Given the description of an element on the screen output the (x, y) to click on. 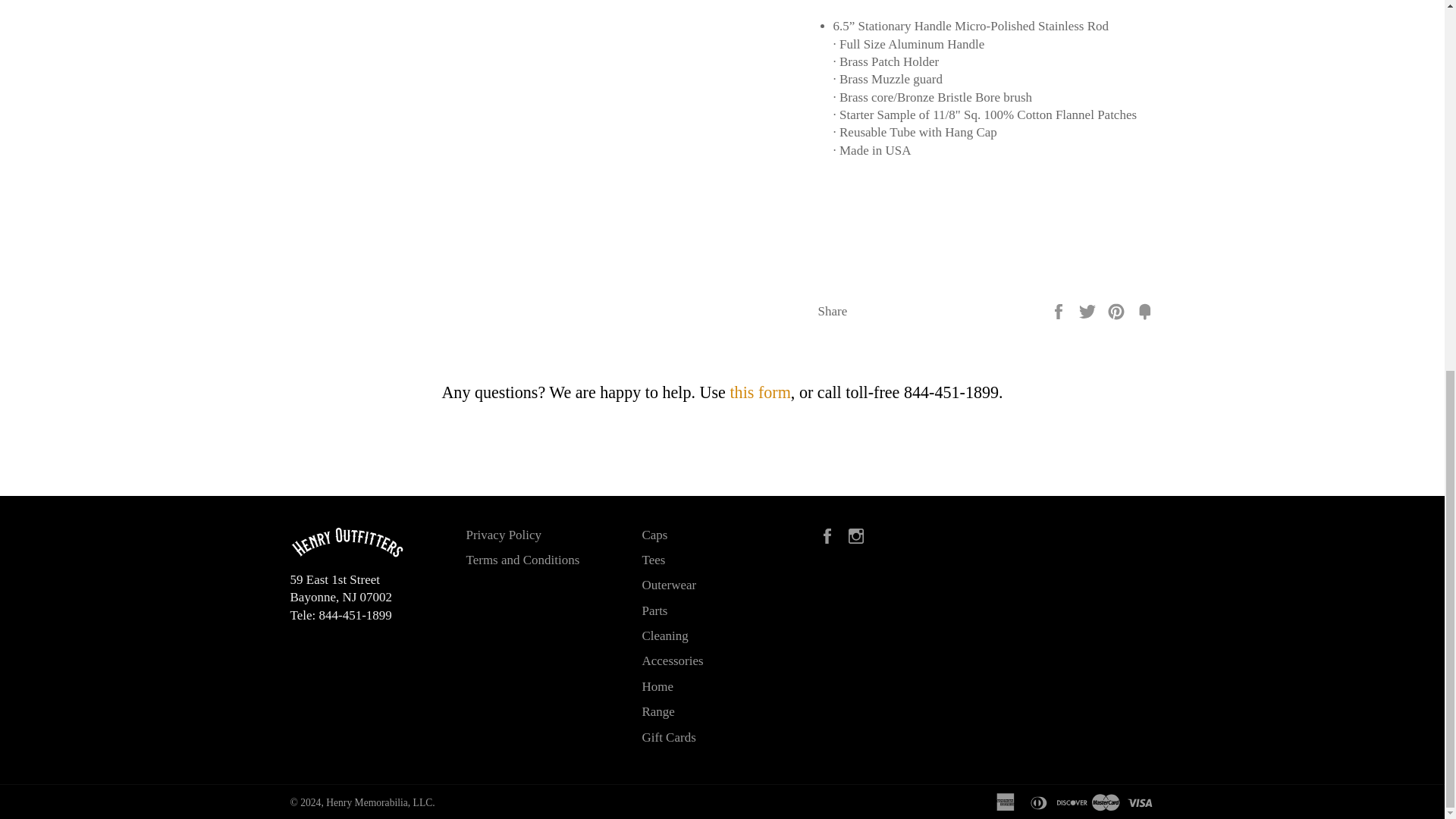
Contact (759, 392)
Henry Outfitters on Facebook (829, 534)
Henry Outfitters on Instagram (859, 534)
